Given the description of an element on the screen output the (x, y) to click on. 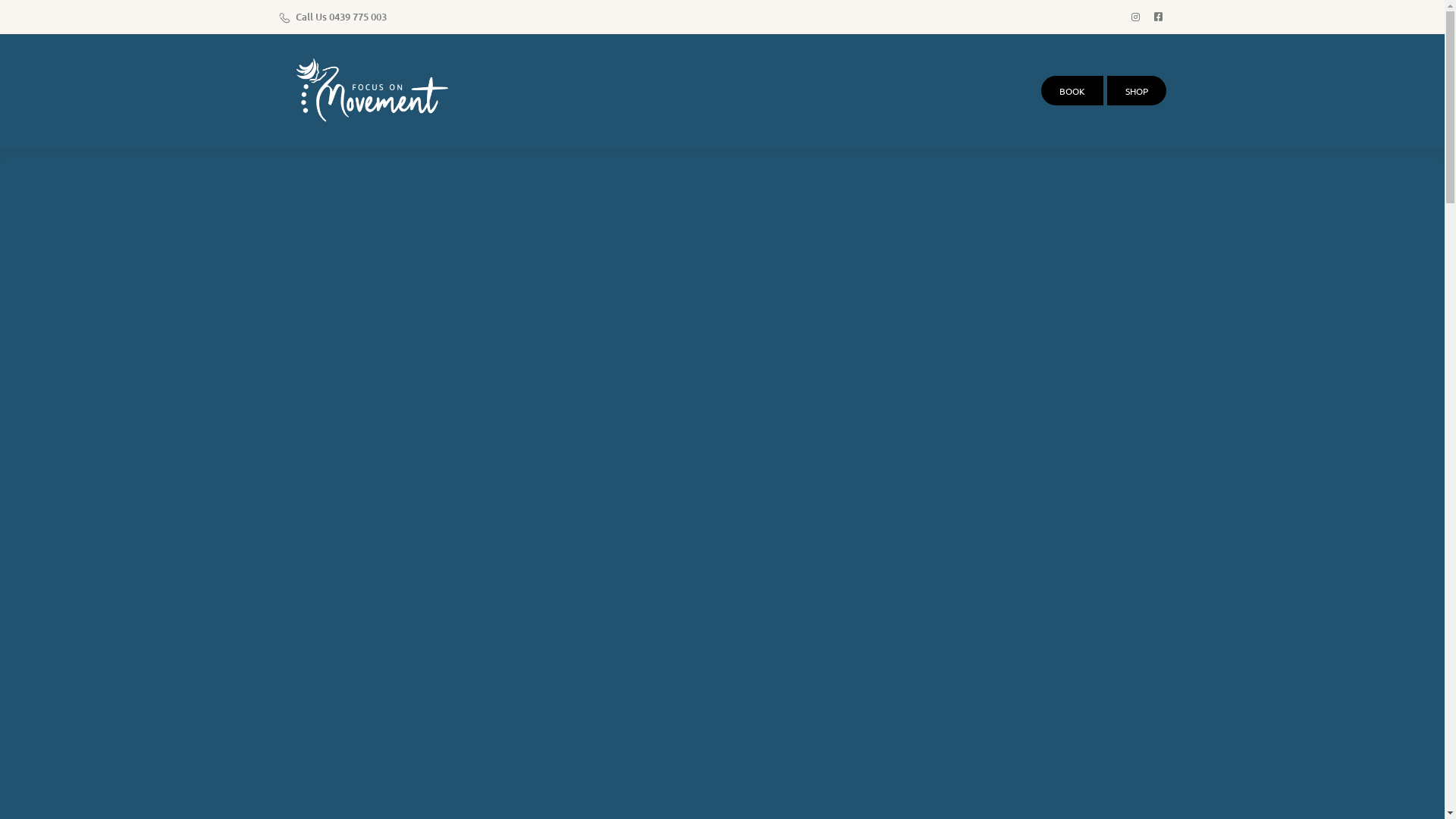
BOOK Element type: text (1071, 90)
Call Us 0439 775 003 Element type: text (333, 17)
SHOP Element type: text (1136, 90)
